Given the description of an element on the screen output the (x, y) to click on. 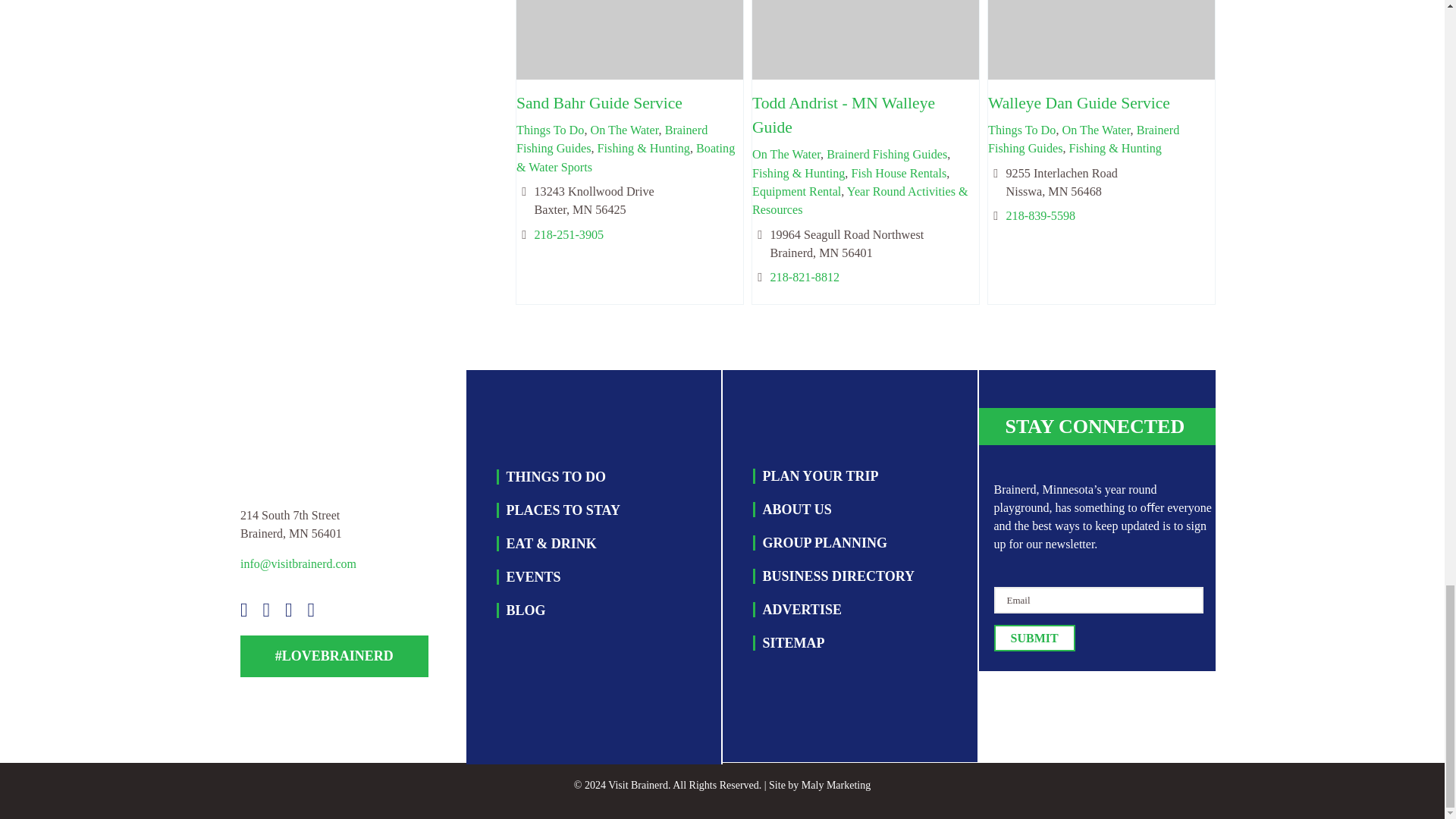
Submit (1033, 637)
